Given the description of an element on the screen output the (x, y) to click on. 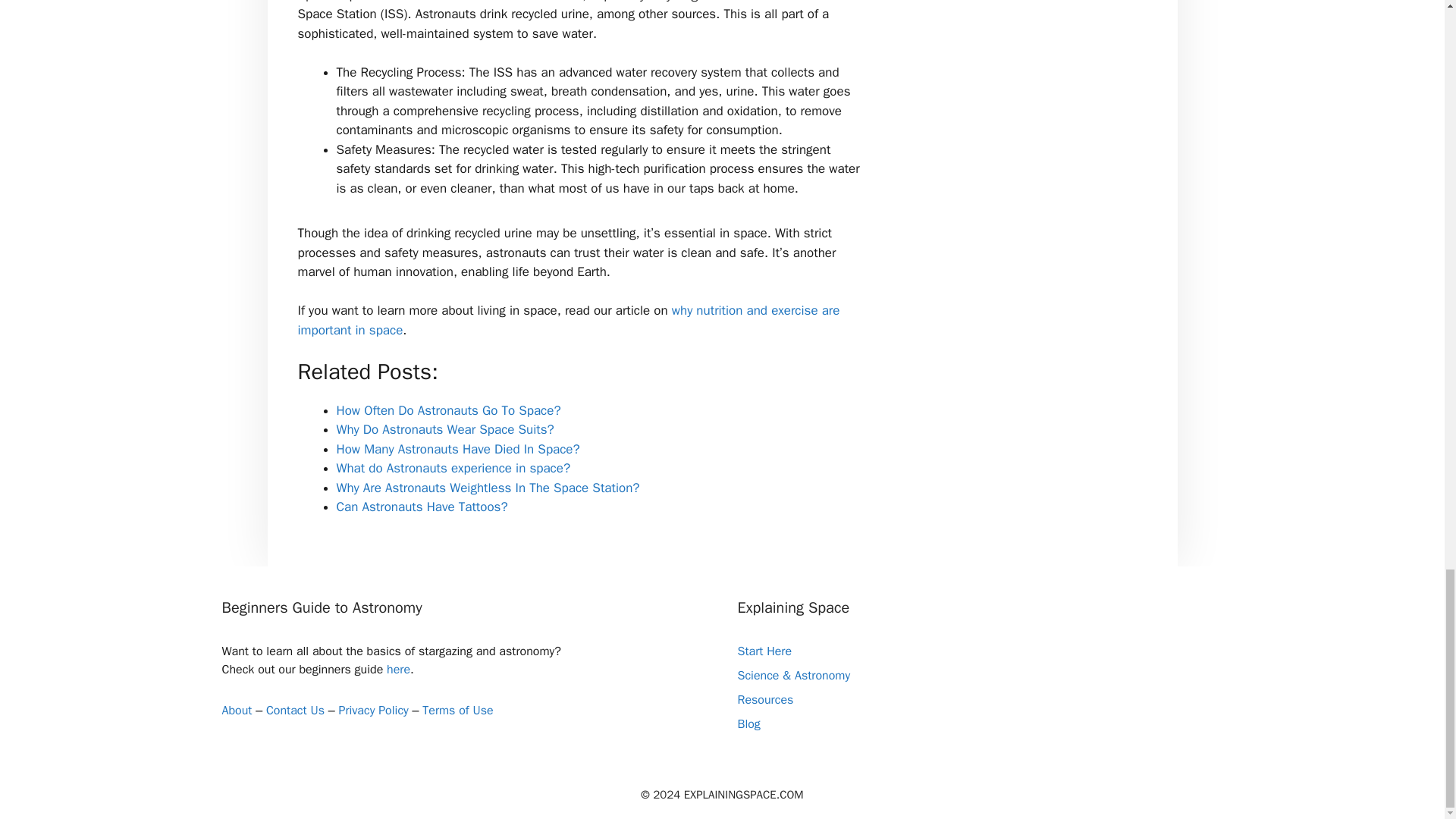
How Often Do Astronauts Go To Space? (448, 410)
Why Are Astronauts Weightless In The Space Station? (488, 487)
Contact Us (295, 710)
Privacy Policy (372, 710)
Can Astronauts Have Tattoos? (422, 506)
Blog (748, 724)
here (398, 669)
Why Do Astronauts Wear Space Suits? (445, 429)
Terms of Use (457, 710)
Start Here (764, 651)
